Given the description of an element on the screen output the (x, y) to click on. 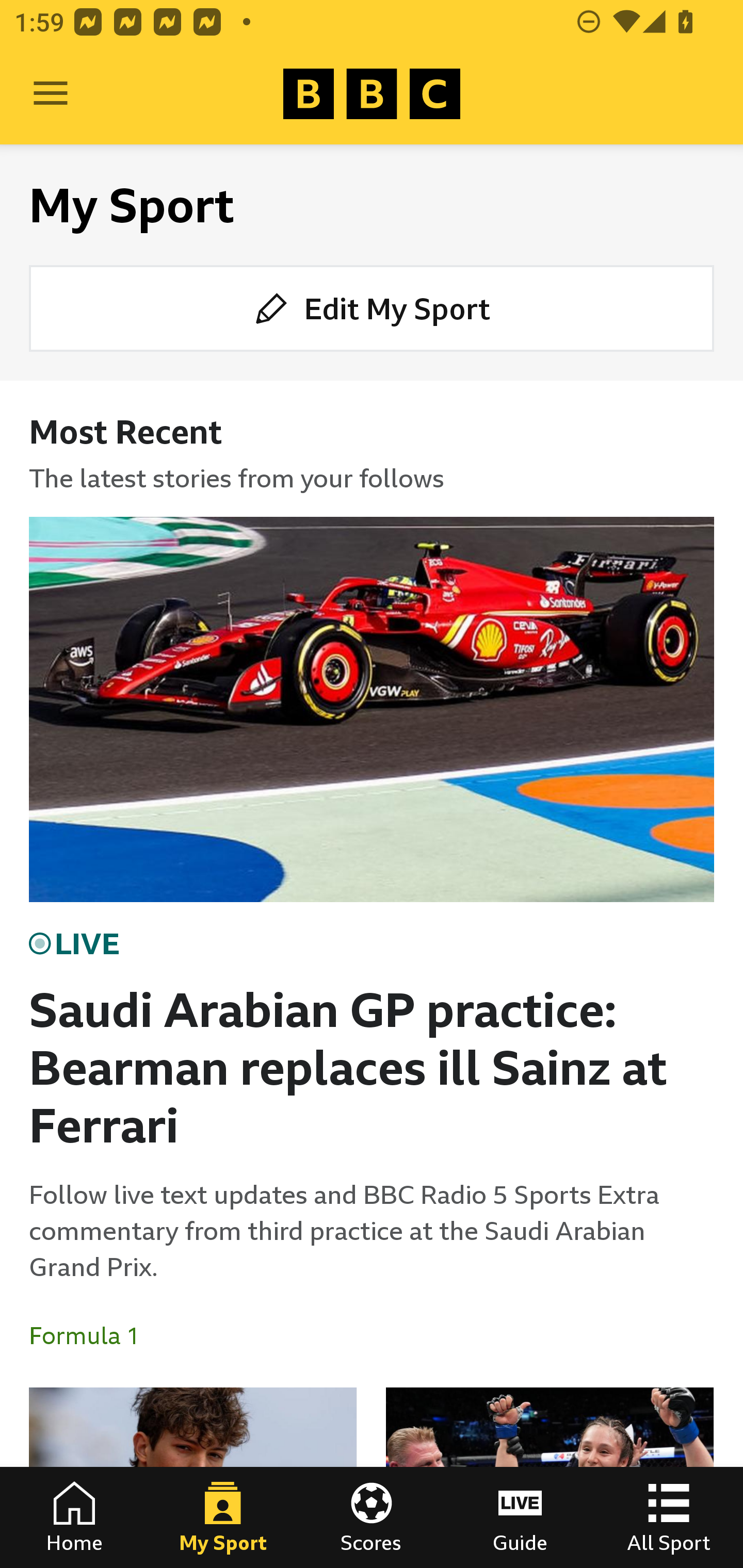
Open Menu (50, 93)
Edit My Sport (371, 307)
Home (74, 1517)
Scores (371, 1517)
Guide (519, 1517)
All Sport (668, 1517)
